Given the description of an element on the screen output the (x, y) to click on. 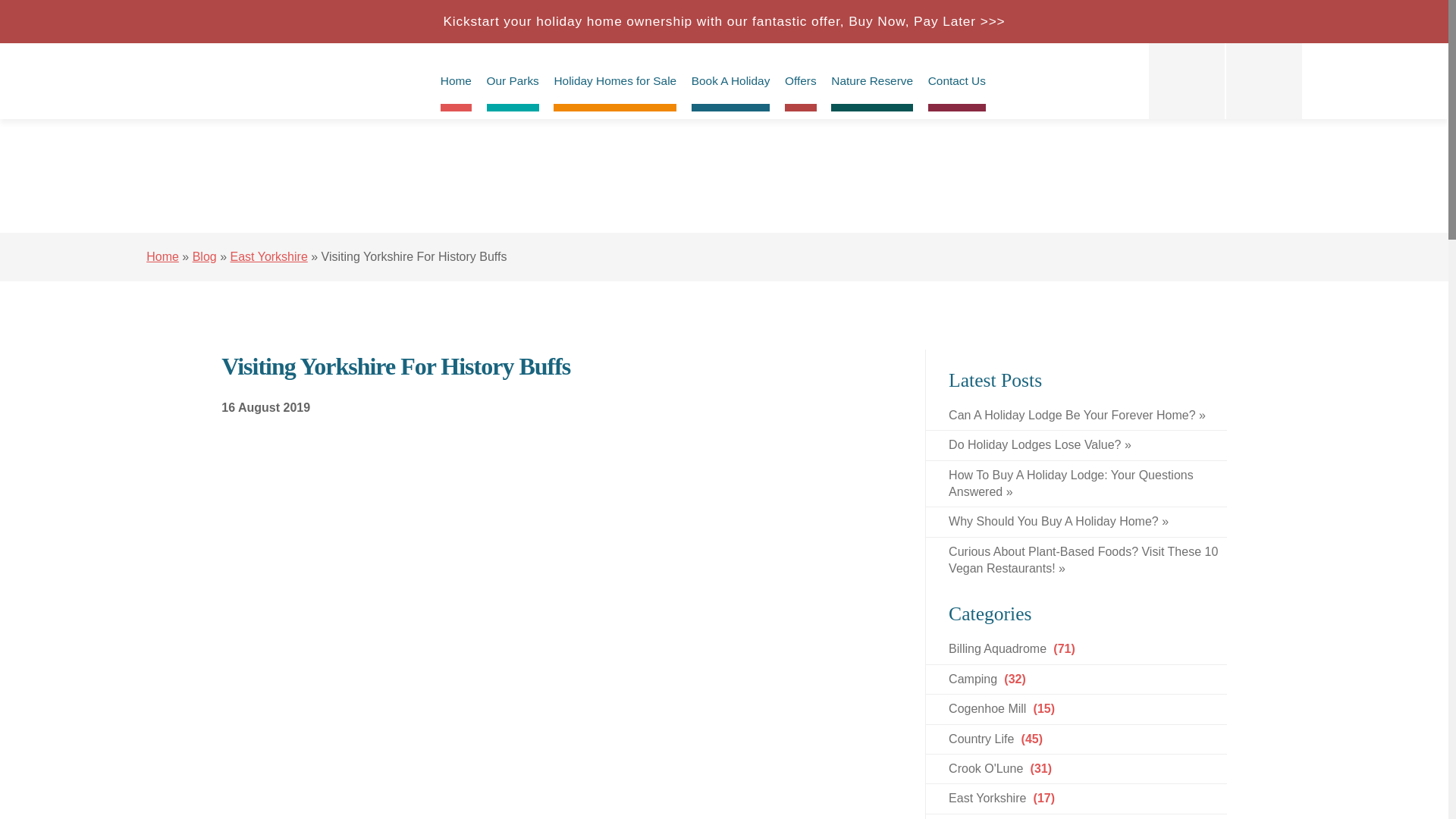
Pure Leisure Group - Click here to return to the homepage (208, 80)
My Account (1186, 80)
Holiday Homes for Sale (615, 80)
Search (1263, 80)
